Given the description of an element on the screen output the (x, y) to click on. 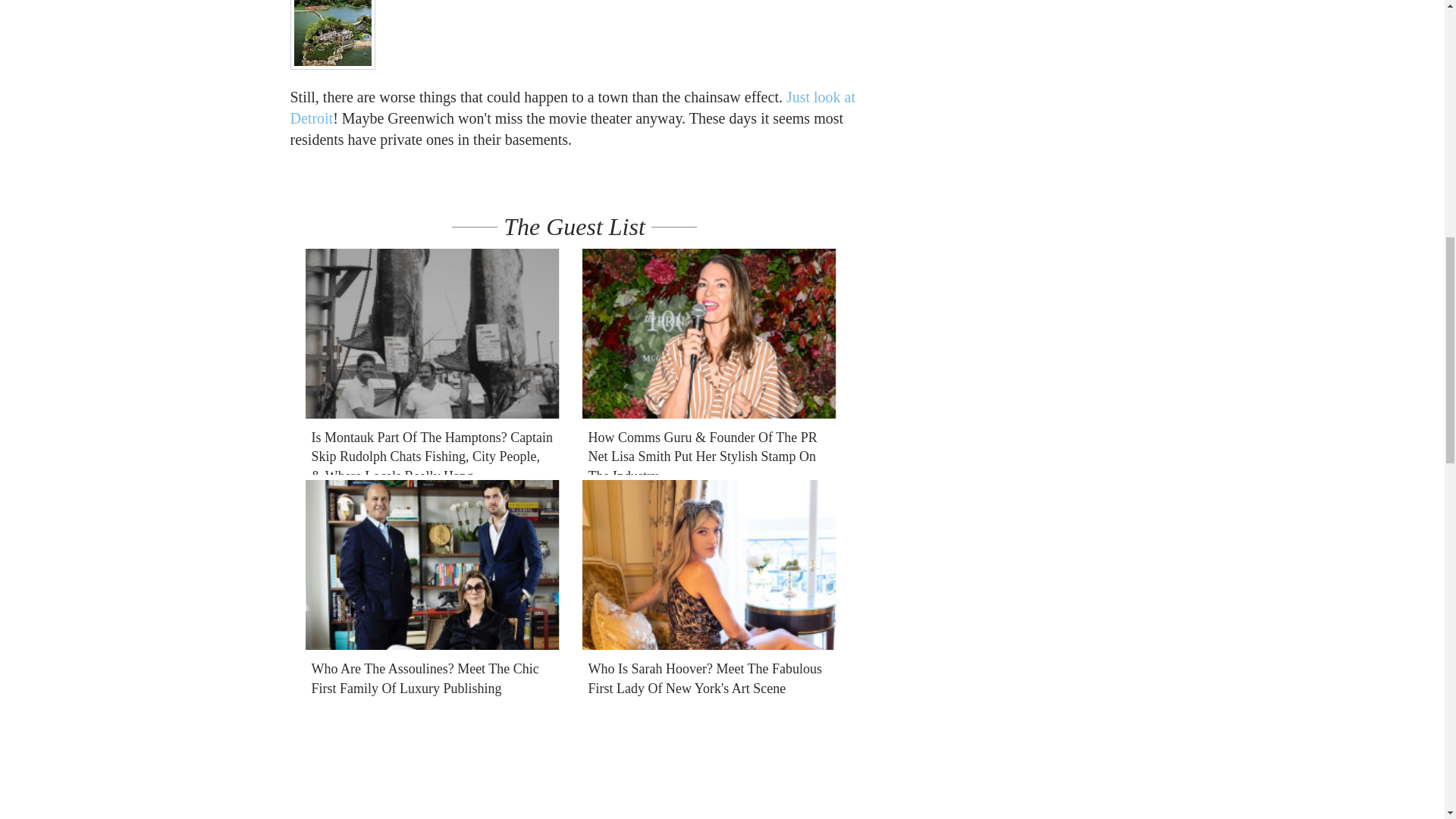
Just look at Detroit (572, 107)
greenwichct-estate (331, 34)
Meet The Glamorous Next Generation Of Billionaire Heiresses (708, 761)
